Given the description of an element on the screen output the (x, y) to click on. 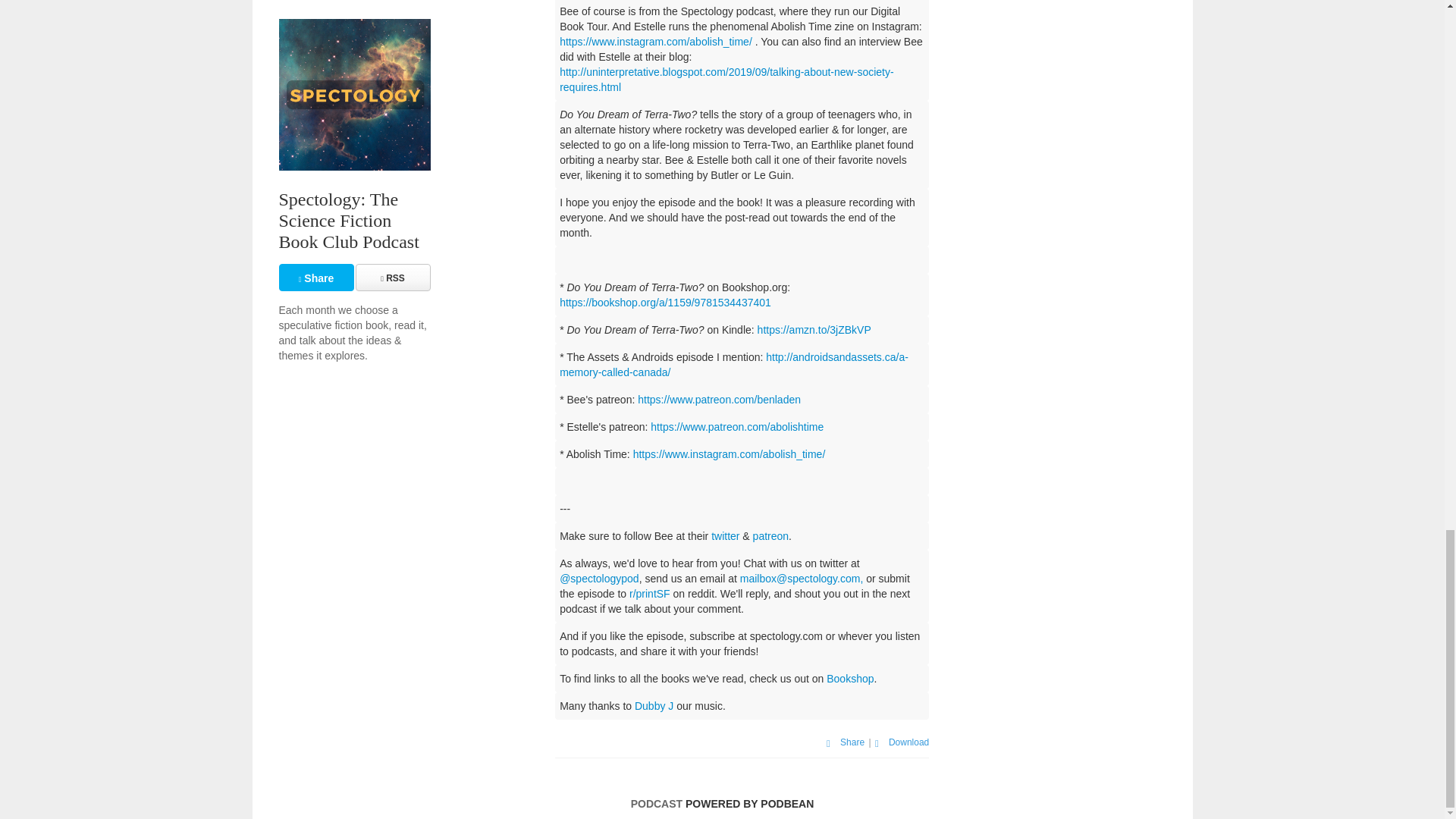
Dubby J soundcloud (653, 705)
